Given the description of an element on the screen output the (x, y) to click on. 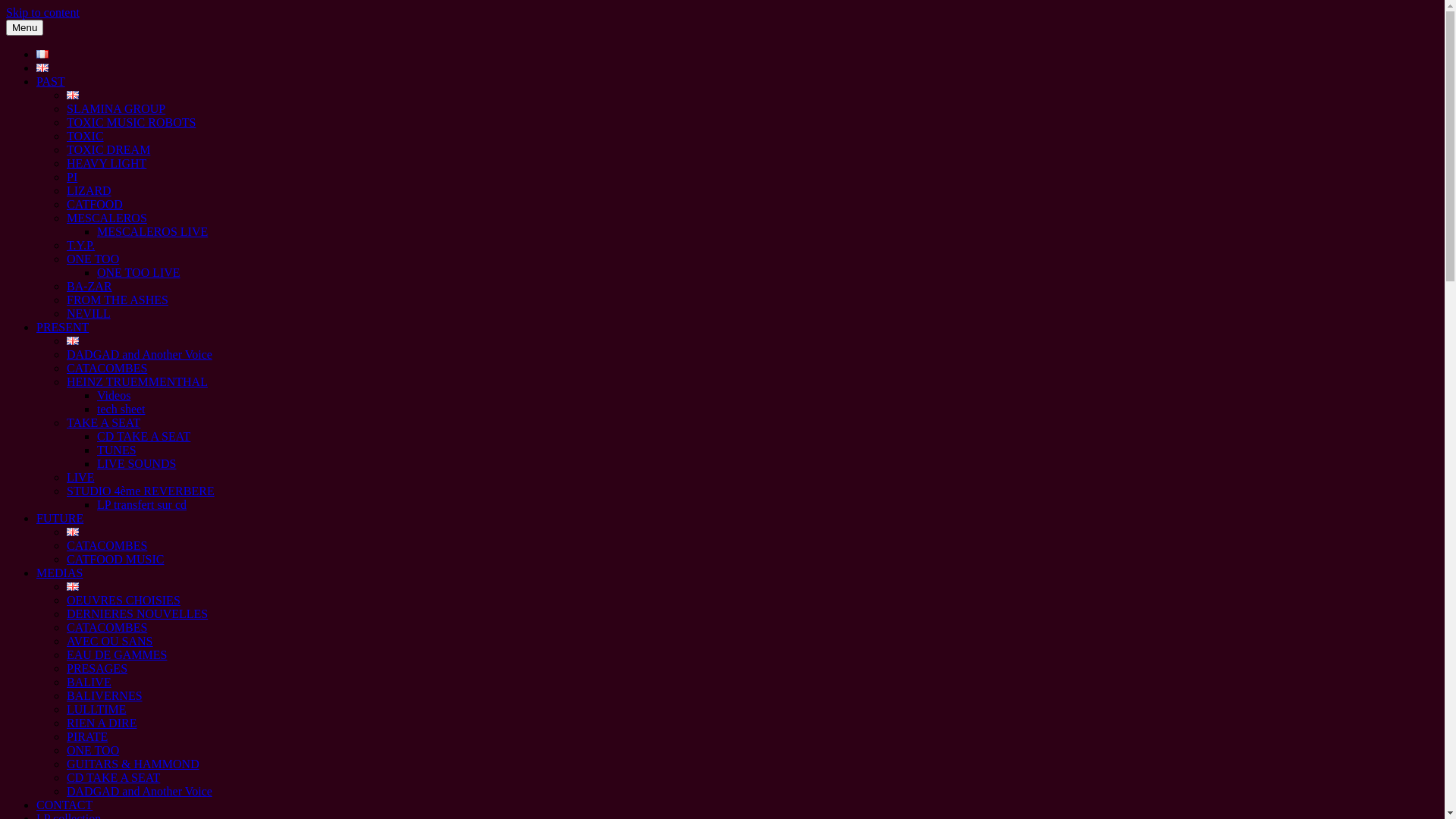
MESCALEROS Element type: text (106, 217)
LULLTIME Element type: text (96, 708)
CATACOMBES Element type: text (106, 627)
PIRATE Element type: text (86, 736)
LIZARD Element type: text (88, 190)
DADGAD and Another Voice Element type: text (139, 354)
FUTURE Element type: text (59, 517)
PAST Element type: text (50, 81)
SLAMINA GROUP Element type: text (115, 108)
BA-ZAR Element type: text (89, 285)
ONE TOO Element type: text (92, 749)
Skip to content Element type: text (42, 12)
CATFOOD MUSIC Element type: text (114, 558)
LIVE SOUNDS Element type: text (136, 463)
BALIVE Element type: text (88, 681)
CATFOOD Element type: text (94, 203)
FROM THE ASHES Element type: text (117, 299)
GUITARS & HAMMOND Element type: text (132, 763)
OEUVRES CHOISIES Element type: text (123, 599)
TAKE A SEAT Element type: text (103, 422)
LIVE Element type: text (80, 476)
DADGAD and Another Voice Element type: text (139, 790)
EAU DE GAMMES Element type: text (116, 654)
PRESENT Element type: text (62, 326)
CATACOMBES Element type: text (106, 367)
tech sheet Element type: text (121, 408)
ONE TOO Element type: text (92, 258)
MEDIAS Element type: text (59, 572)
AVEC OU SANS Element type: text (109, 640)
LP transfert sur cd Element type: text (141, 504)
CD TAKE A SEAT Element type: text (143, 435)
DERNIERES NOUVELLES Element type: text (136, 613)
PI Element type: text (71, 176)
Videos Element type: text (113, 395)
HEAVY LIGHT Element type: text (106, 162)
CONTACT Element type: text (64, 804)
TOXIC Element type: text (84, 135)
TOXIC DREAM Element type: text (108, 149)
RIEN A DIRE Element type: text (101, 722)
Menu Element type: text (24, 27)
CATACOMBES Element type: text (106, 545)
TOXIC MUSIC ROBOTS Element type: text (130, 122)
HEINZ TRUEMMENTHAL Element type: text (136, 381)
T.Y.P. Element type: text (80, 244)
MESCALEROS LIVE Element type: text (152, 231)
PRESAGES Element type: text (96, 668)
CD TAKE A SEAT Element type: text (113, 777)
BALIVERNES Element type: text (104, 695)
ONE TOO LIVE Element type: text (138, 272)
TUNES Element type: text (116, 449)
NEVILL Element type: text (88, 313)
